Given the description of an element on the screen output the (x, y) to click on. 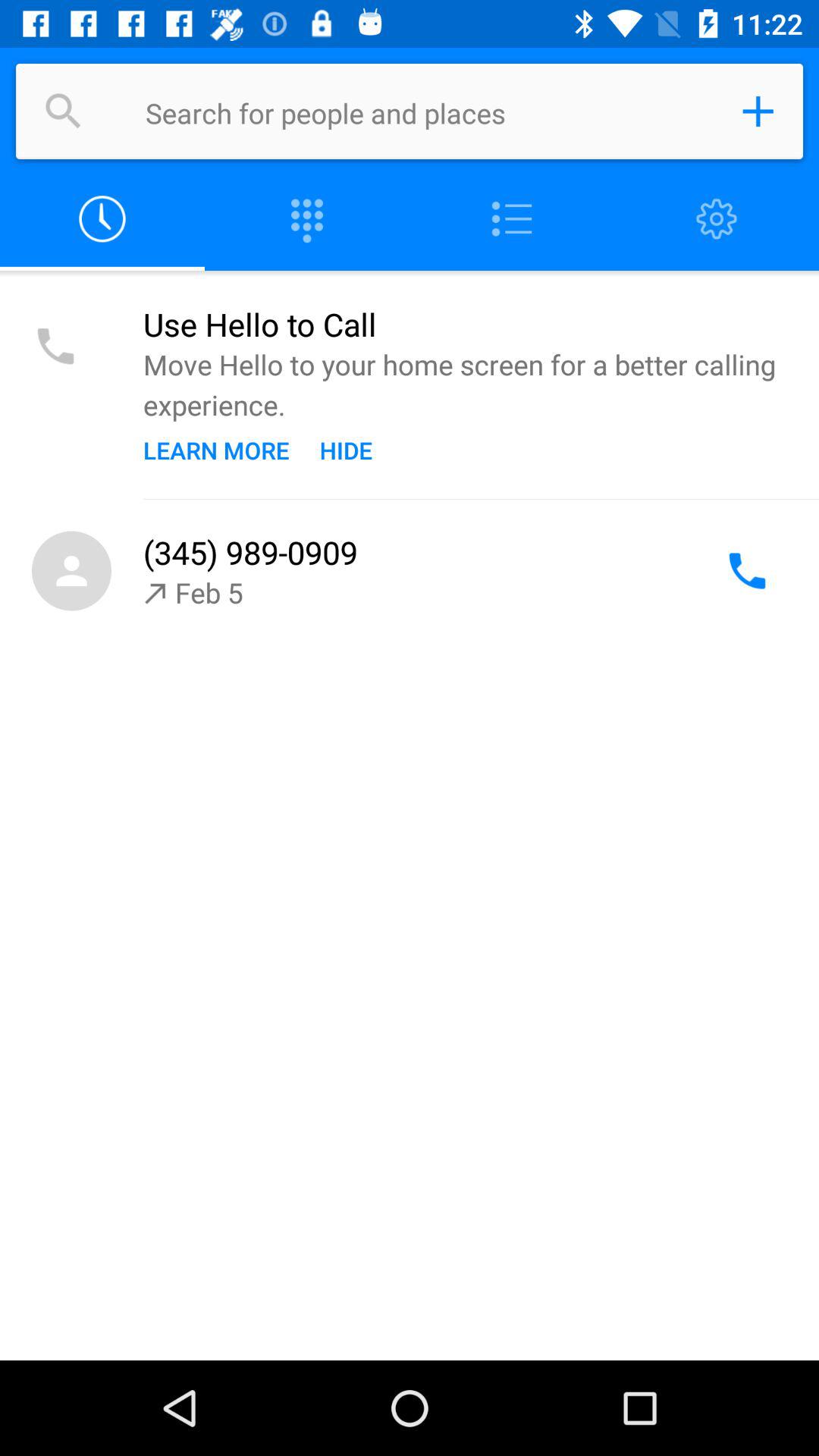
button to call the number (747, 570)
